Given the description of an element on the screen output the (x, y) to click on. 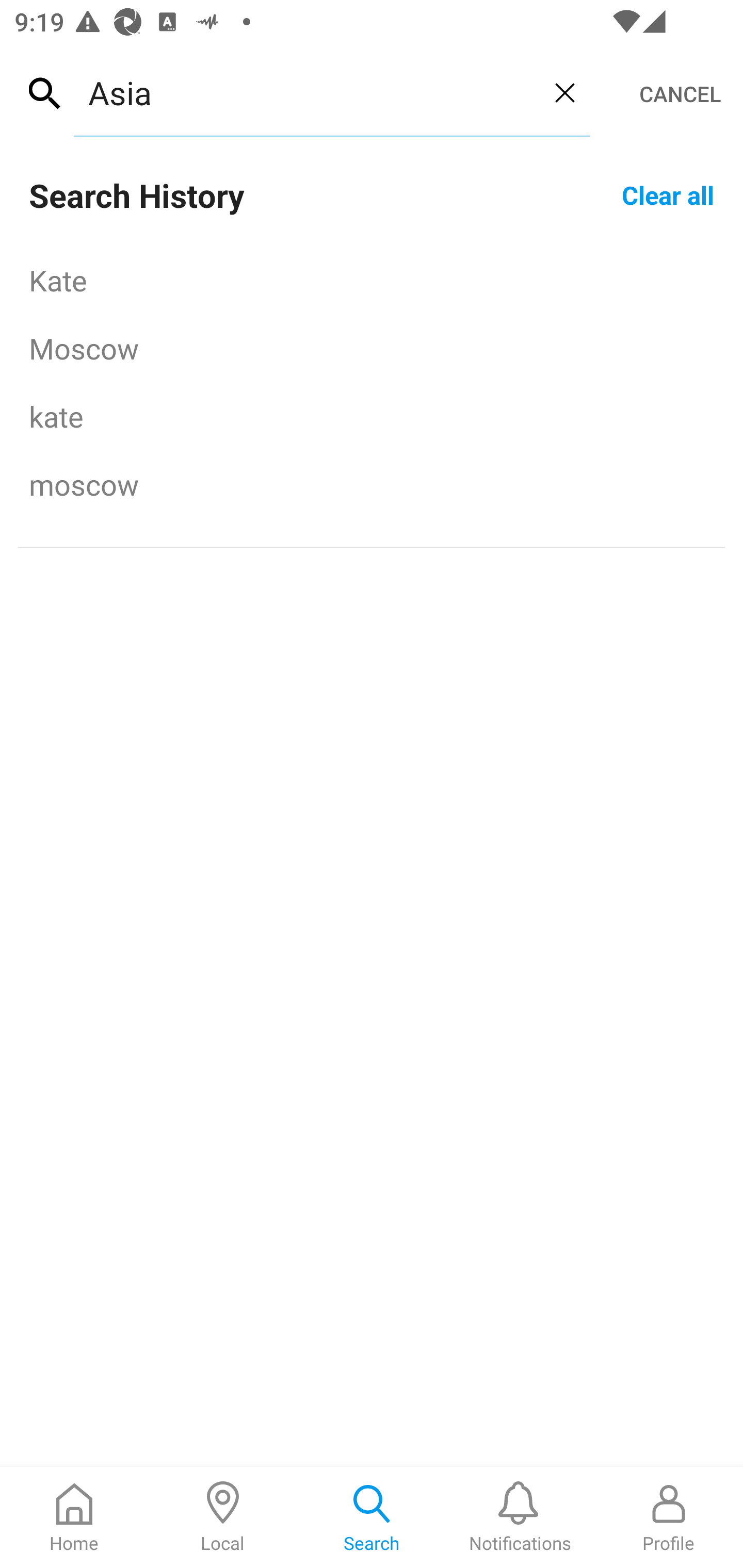
Clear query (564, 92)
CANCEL (680, 93)
Asia (306, 92)
Clear all (667, 194)
Kate (371, 279)
Moscow (371, 347)
kate (371, 416)
moscow (371, 484)
Home (74, 1517)
Local (222, 1517)
Notifications (519, 1517)
Profile (668, 1517)
